Given the description of an element on the screen output the (x, y) to click on. 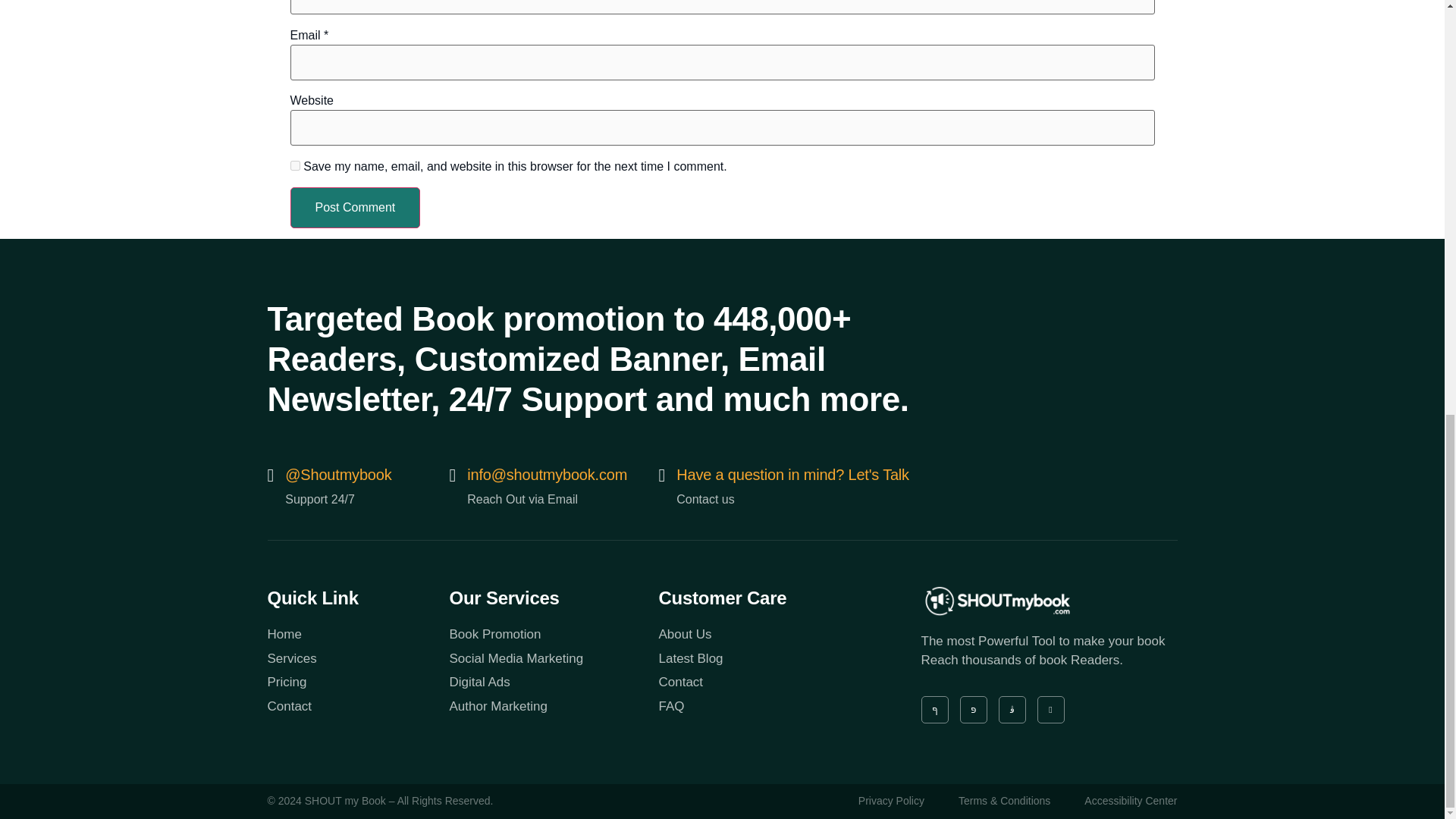
Social Media Marketing (553, 659)
Accessibility Center (1130, 801)
FAQ (762, 706)
Pricing (357, 682)
Contact (762, 682)
Privacy Policy (891, 801)
Author Marketing (553, 706)
About Us (762, 634)
Post Comment (354, 207)
yes (294, 165)
